Given the description of an element on the screen output the (x, y) to click on. 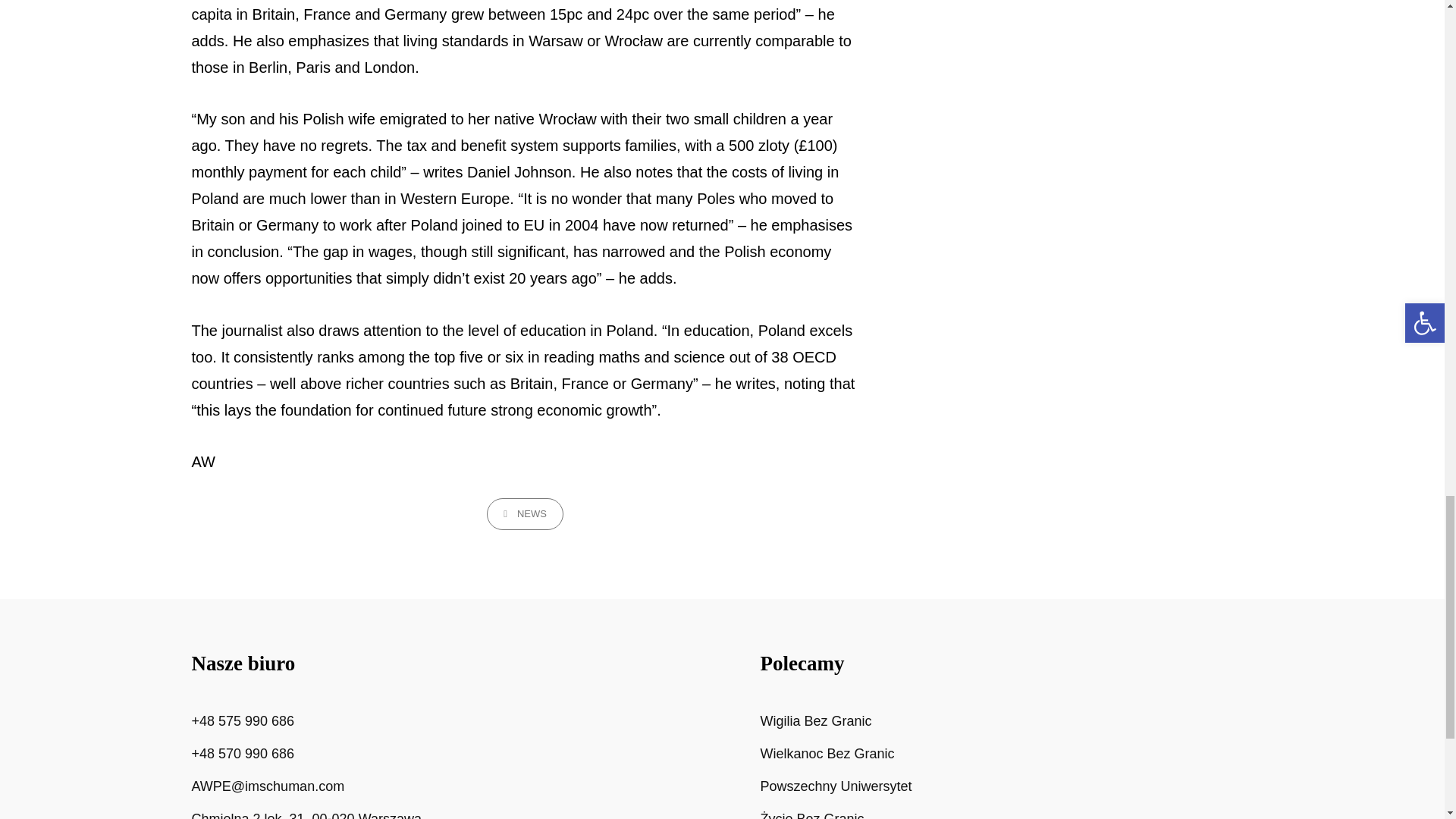
Powszechny Uniwersytet (835, 785)
Wigilia Bez Granic (815, 720)
Wielkanoc Bez Granic (826, 753)
NEWS (524, 513)
